Given the description of an element on the screen output the (x, y) to click on. 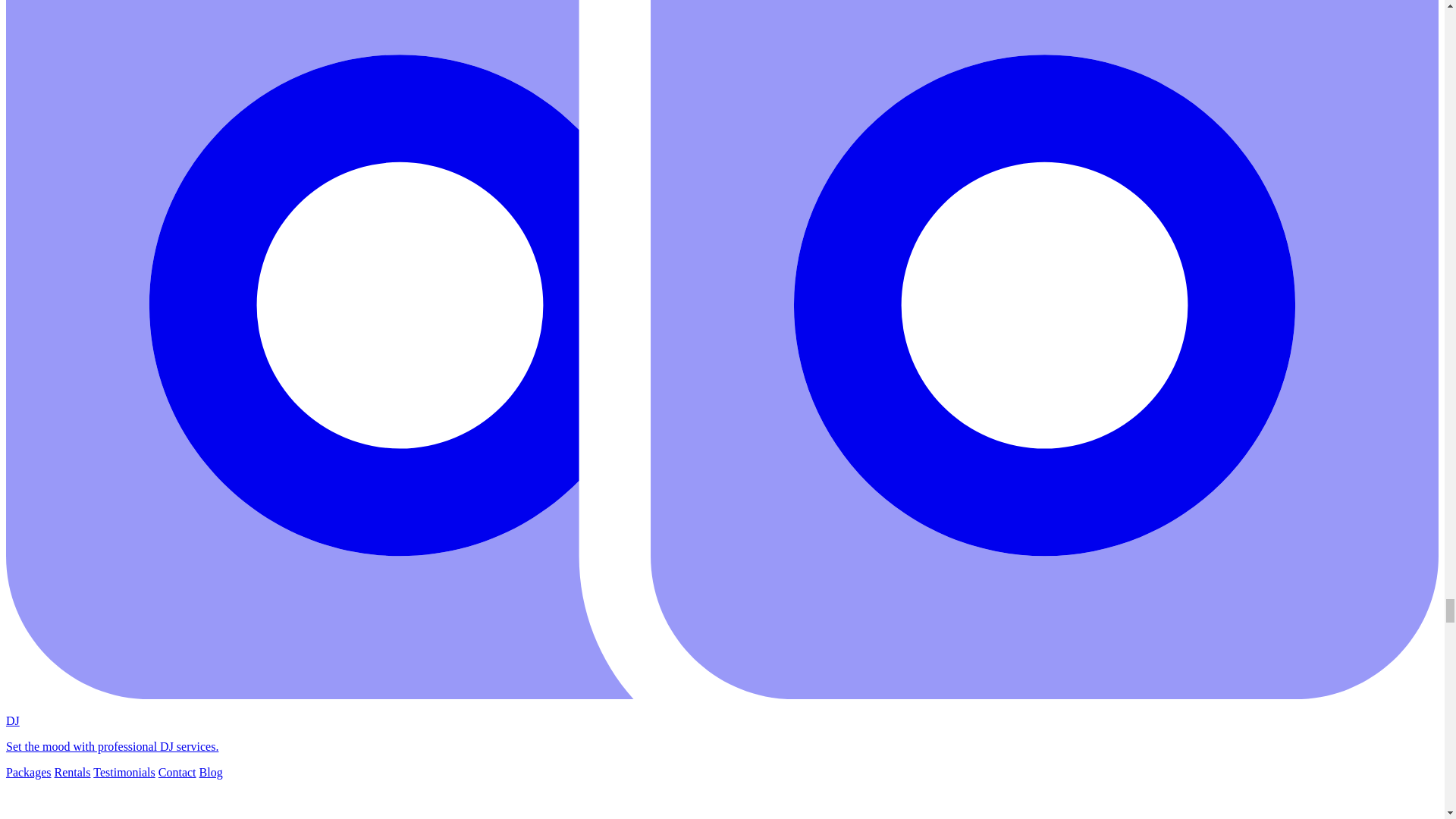
Blog (210, 771)
Contact (177, 771)
Testimonials (124, 771)
Packages (27, 771)
Rentals (72, 771)
